Given the description of an element on the screen output the (x, y) to click on. 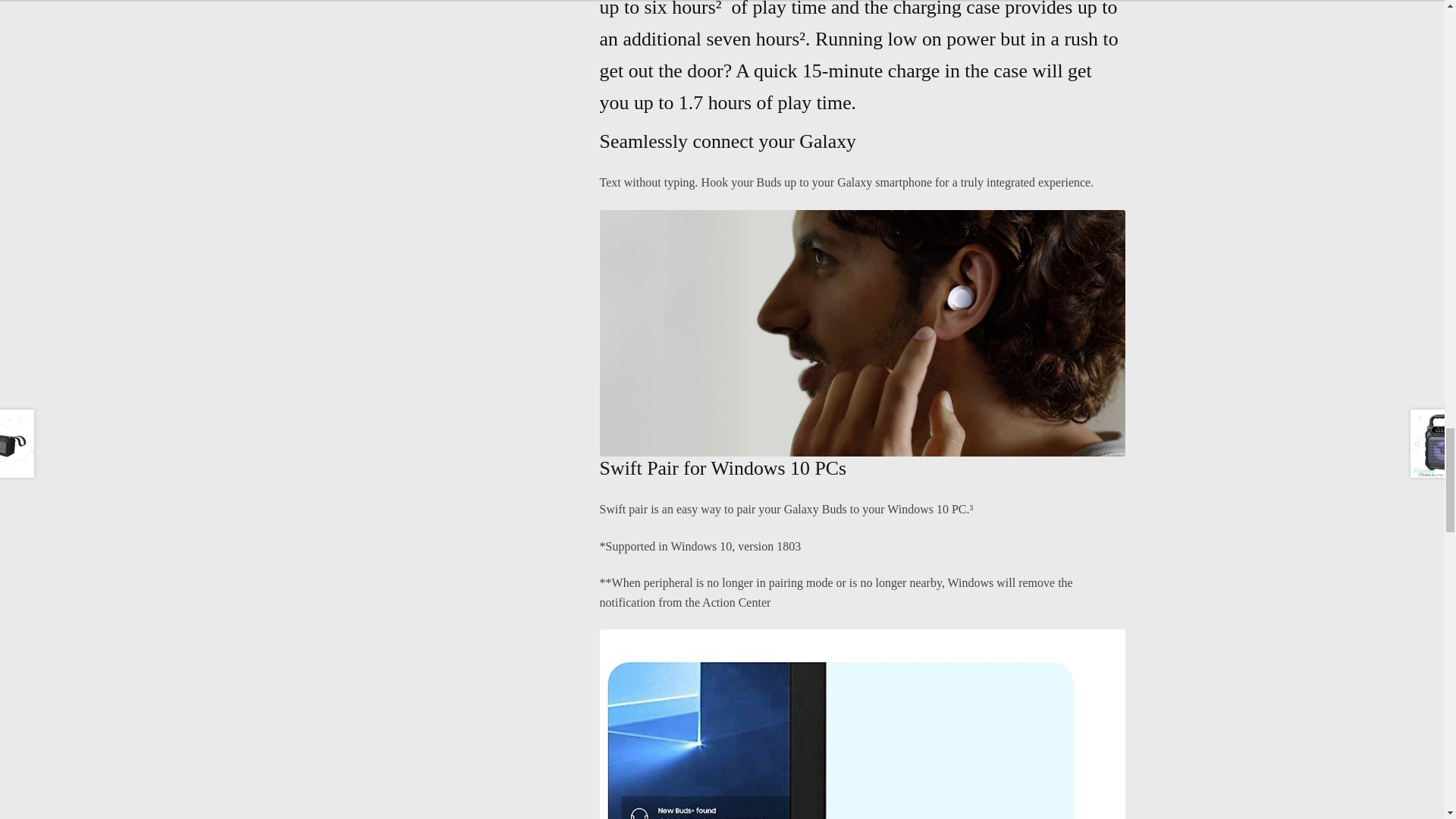
Seamlessly connect your Galaxy (862, 332)
